Given the description of an element on the screen output the (x, y) to click on. 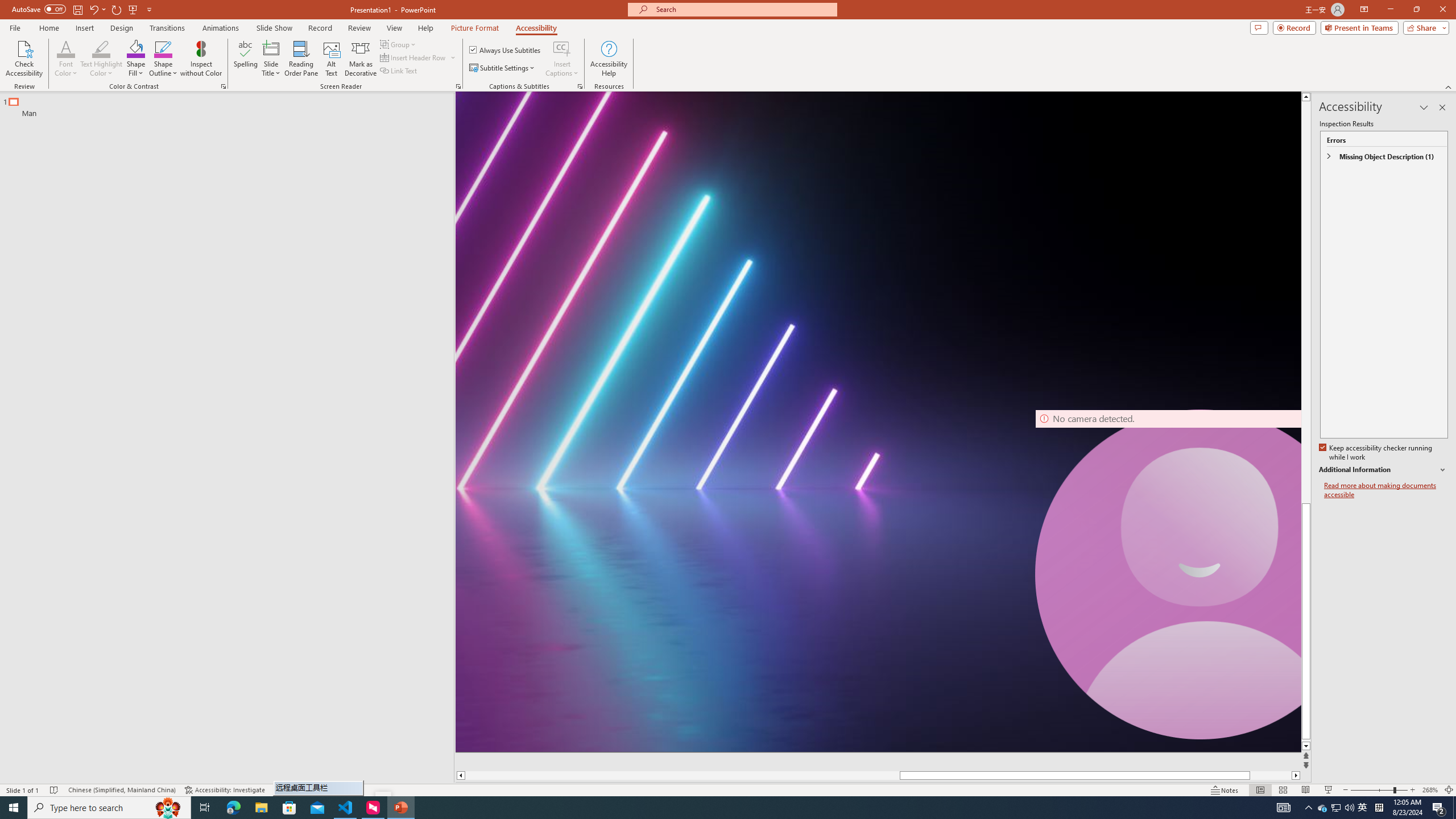
Reading Order Pane (301, 58)
Insert Header Row (418, 56)
Slide Title (271, 48)
Color & Contrast (223, 85)
Microsoft search (742, 9)
Font Color (65, 48)
Shape Fill Orange, Accent 2 (135, 48)
Outline (231, 104)
Insert Captions (561, 58)
